Given the description of an element on the screen output the (x, y) to click on. 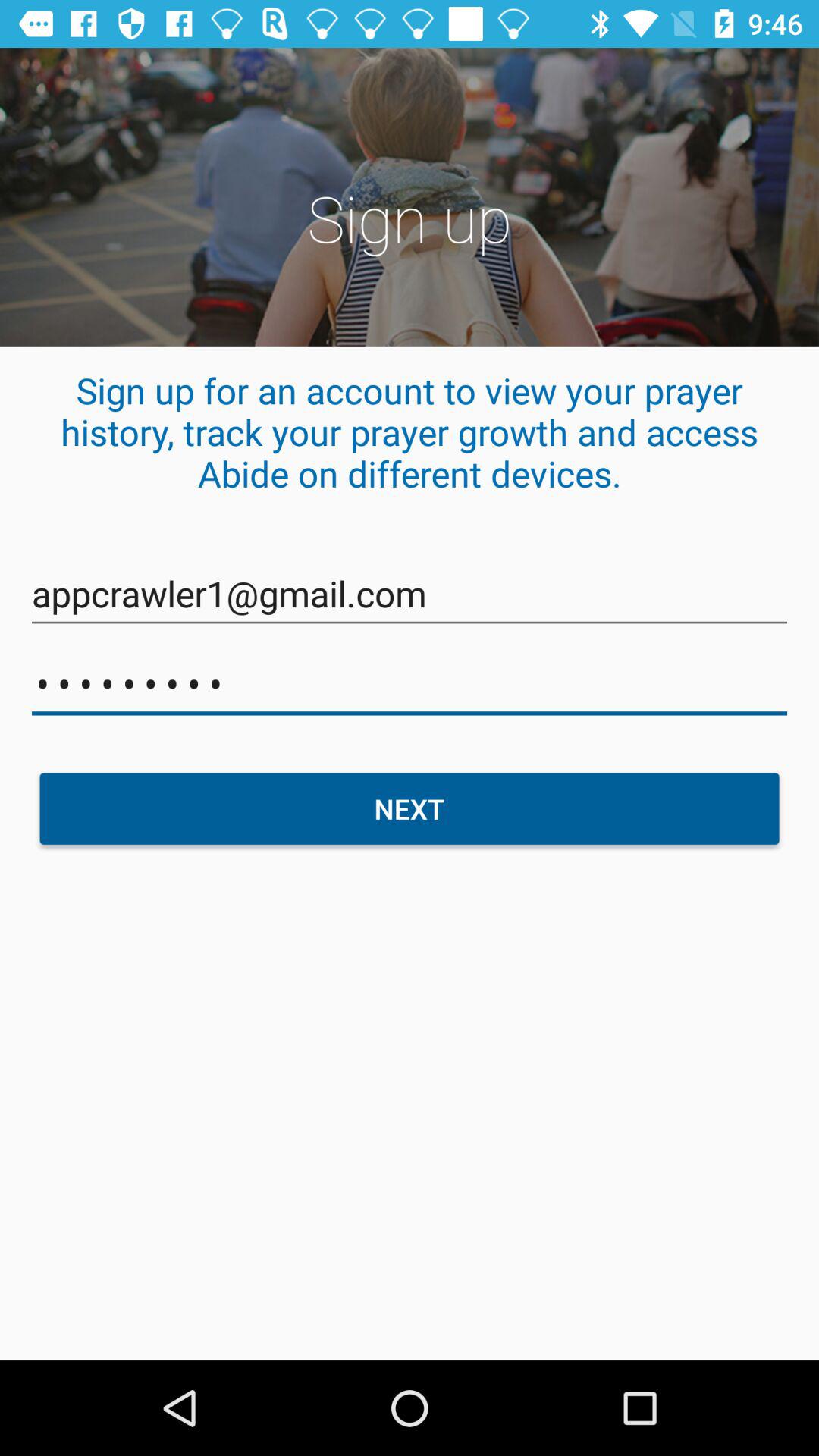
choose icon above the next icon (409, 684)
